Given the description of an element on the screen output the (x, y) to click on. 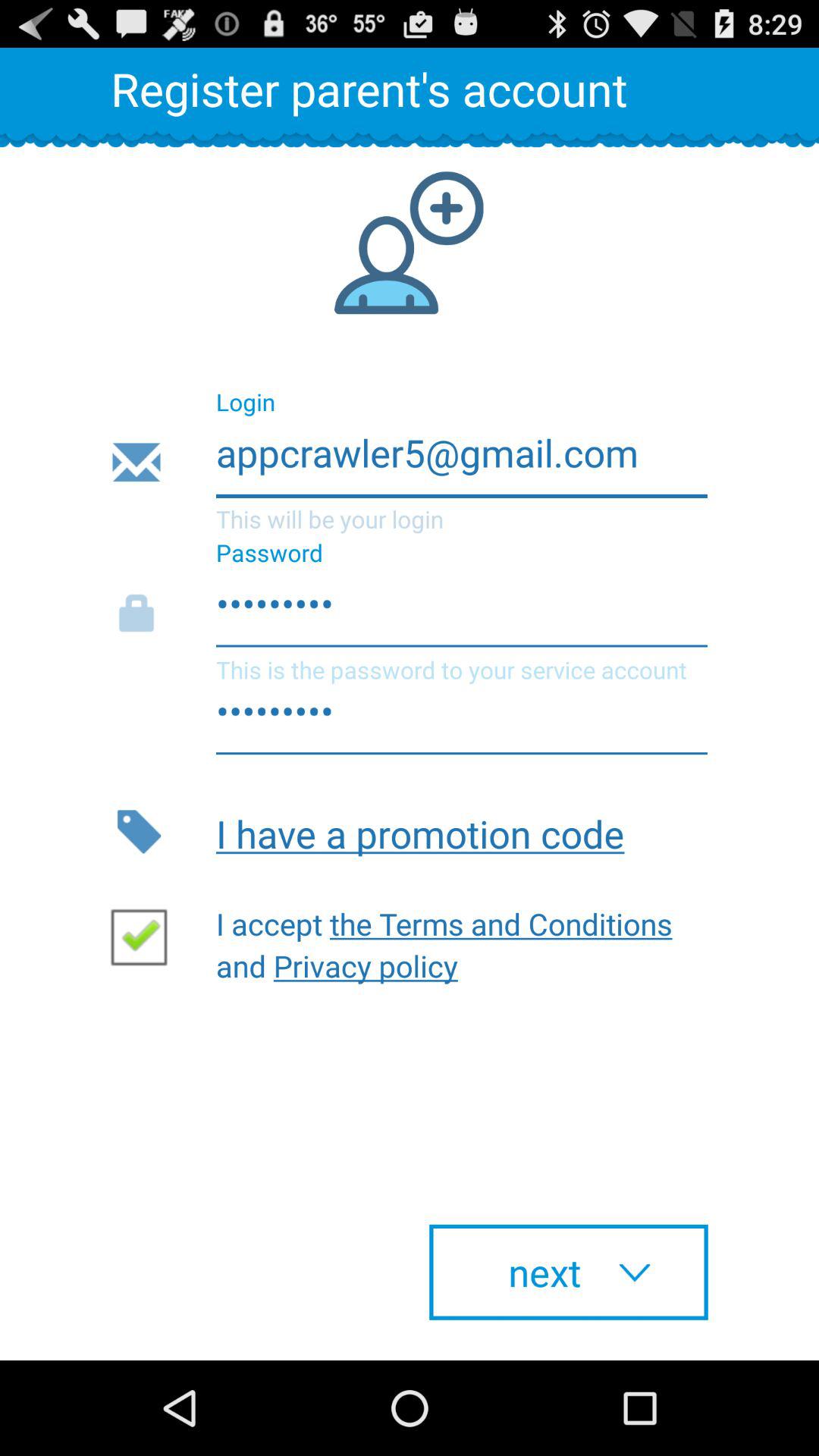
mark checkbox (145, 936)
